Given the description of an element on the screen output the (x, y) to click on. 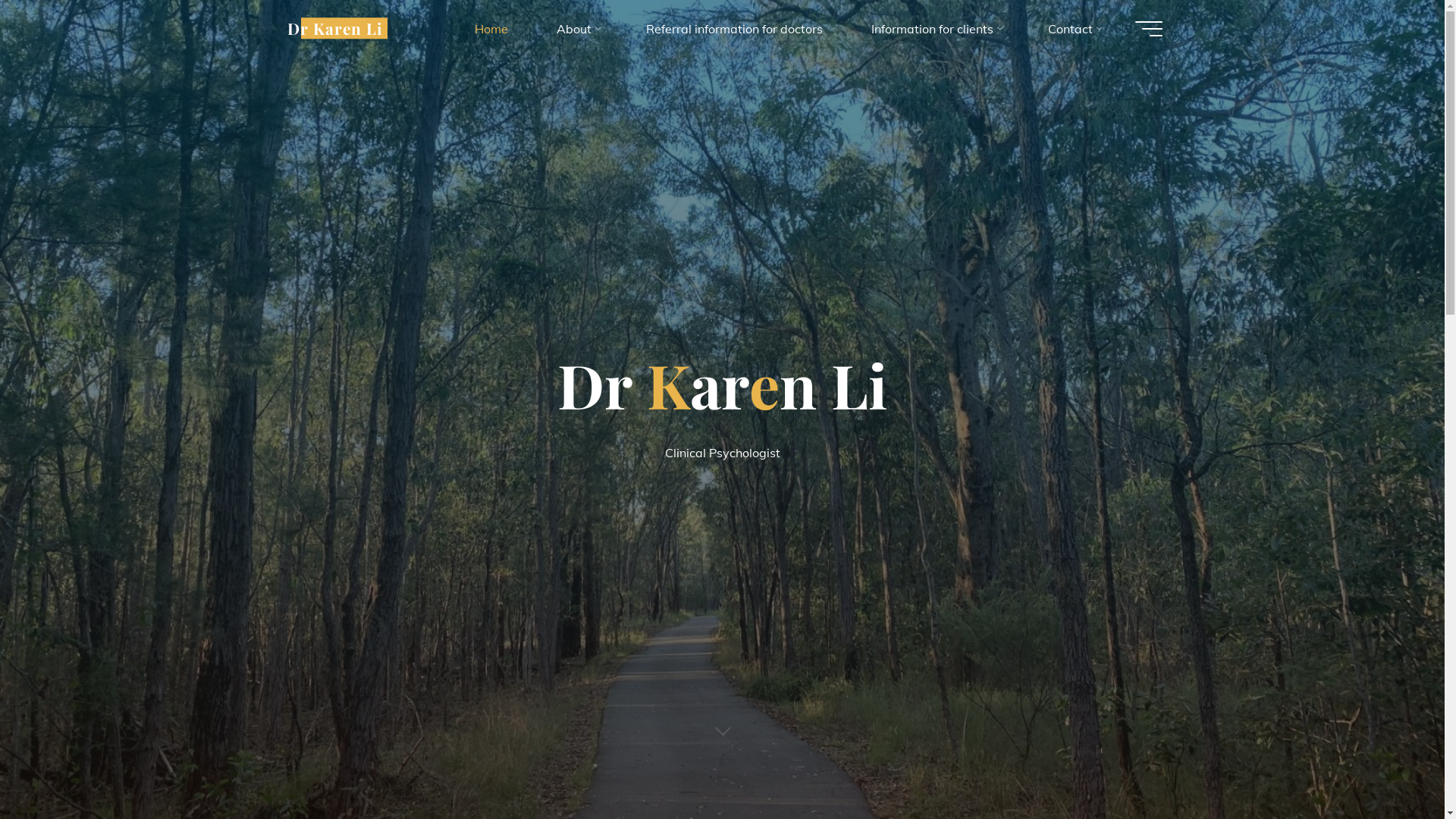
Contact Element type: text (1073, 28)
Referral information for doctors Element type: text (734, 28)
Read more Element type: hover (721, 726)
Dr Karen Li Element type: text (334, 27)
Information for clients Element type: text (934, 28)
Home Element type: text (491, 28)
About Element type: text (576, 28)
